Given the description of an element on the screen output the (x, y) to click on. 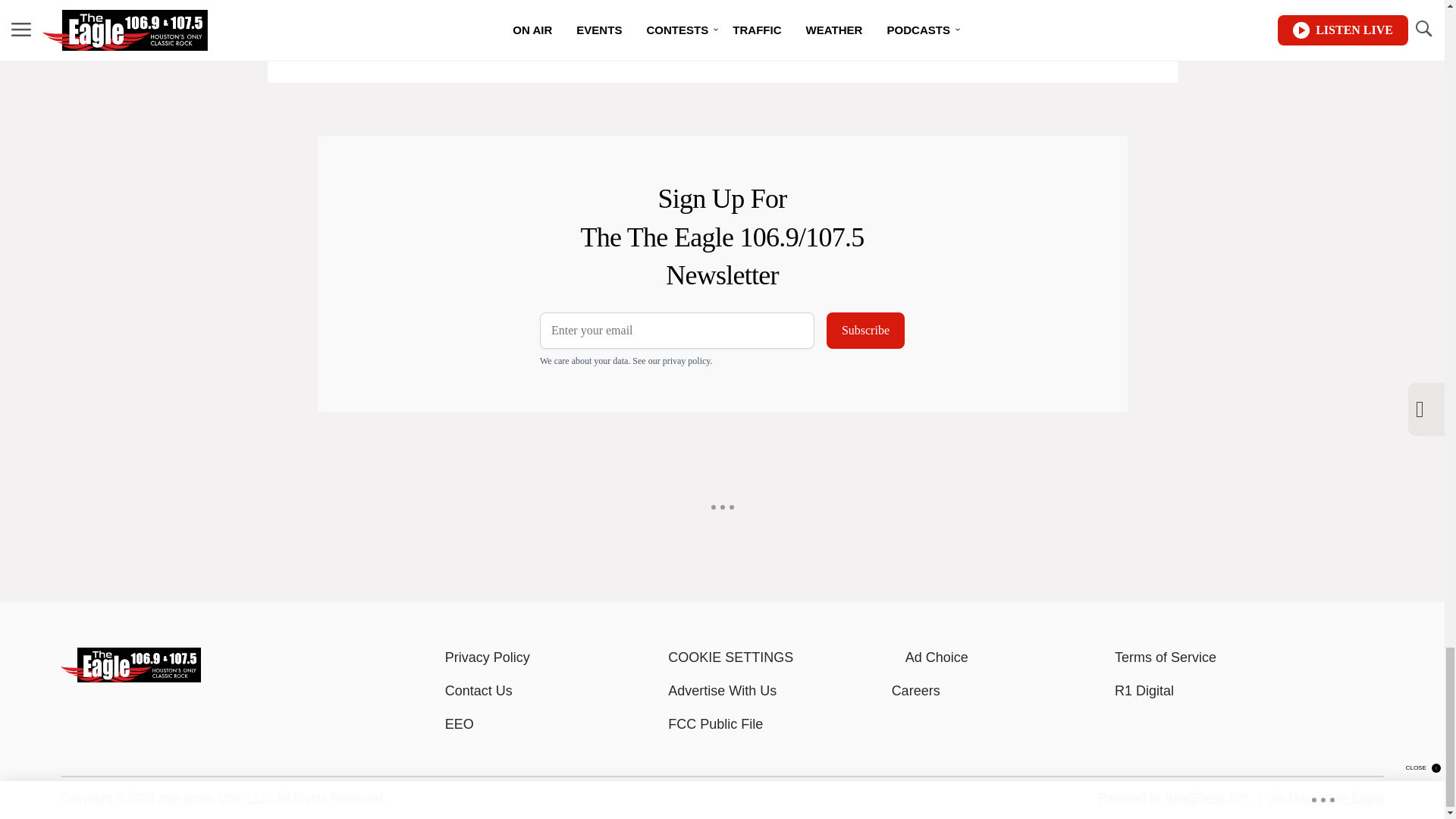
Subscribe (865, 330)
privay policy (686, 360)
